Given the description of an element on the screen output the (x, y) to click on. 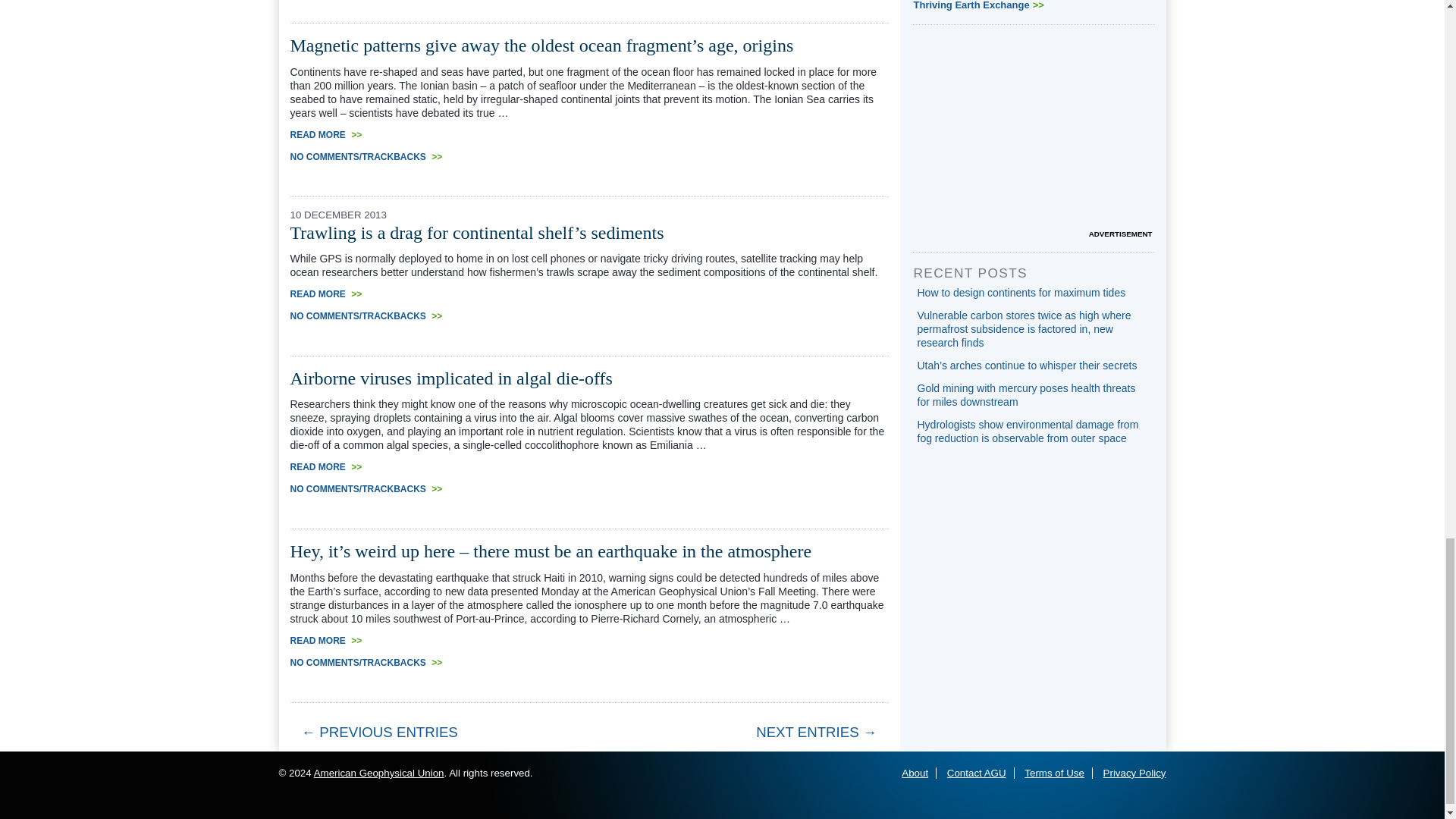
3rd party ad content (1032, 132)
Airborne viruses implicated in algal die-offs (450, 378)
